Given the description of an element on the screen output the (x, y) to click on. 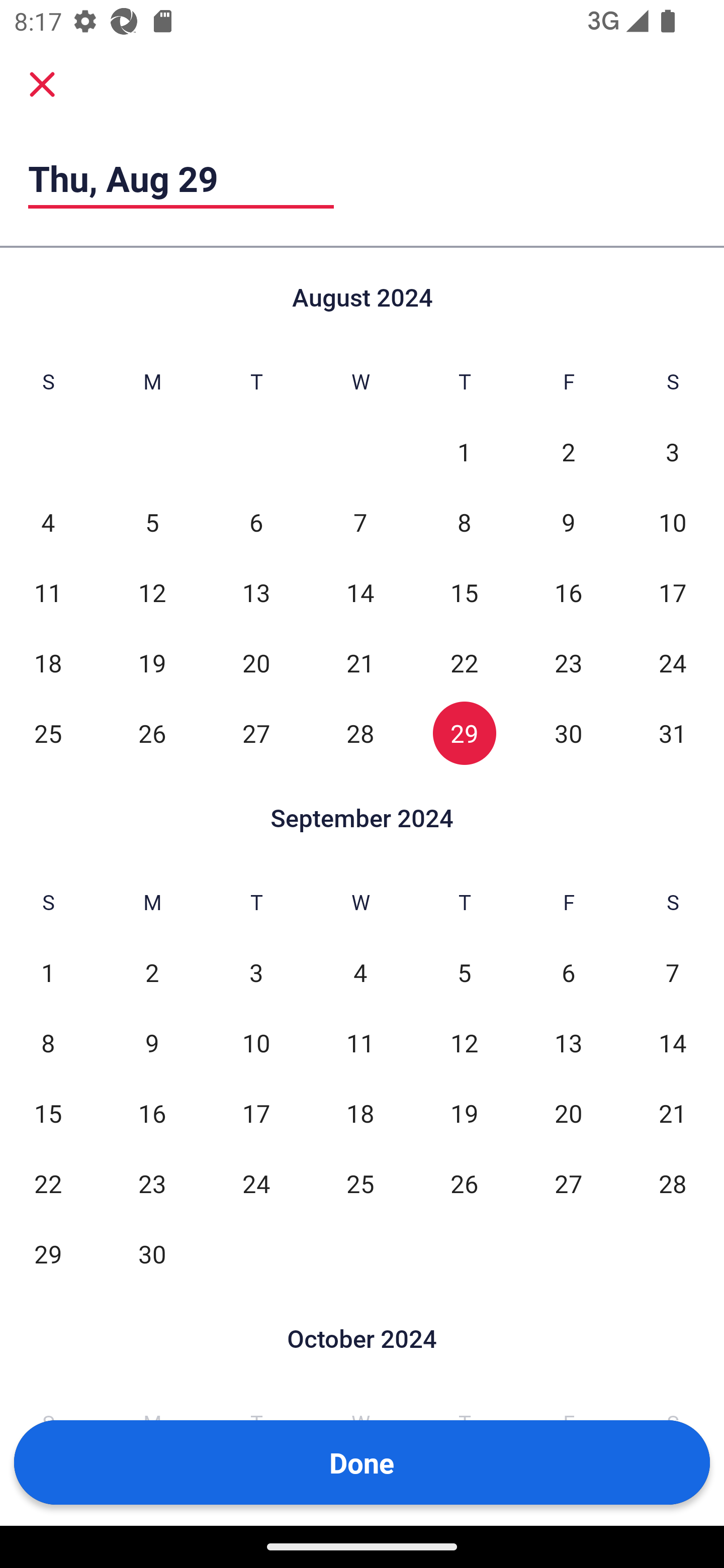
Cancel (42, 84)
Cancel (41, 83)
Thu, Aug 29 (180, 178)
1 Thu, Aug 1, Not Selected (464, 452)
2 Fri, Aug 2, Not Selected (568, 452)
3 Sat, Aug 3, Not Selected (672, 452)
4 Sun, Aug 4, Not Selected (48, 521)
5 Mon, Aug 5, Not Selected (152, 521)
6 Tue, Aug 6, Not Selected (256, 521)
7 Wed, Aug 7, Not Selected (360, 521)
8 Thu, Aug 8, Not Selected (464, 521)
9 Fri, Aug 9, Not Selected (568, 521)
10 Sat, Aug 10, Not Selected (672, 521)
11 Sun, Aug 11, Not Selected (48, 591)
12 Mon, Aug 12, Not Selected (152, 591)
13 Tue, Aug 13, Not Selected (256, 591)
14 Wed, Aug 14, Not Selected (360, 591)
15 Thu, Aug 15, Not Selected (464, 591)
16 Fri, Aug 16, Not Selected (568, 591)
17 Sat, Aug 17, Not Selected (672, 591)
18 Sun, Aug 18, Not Selected (48, 662)
19 Mon, Aug 19, Not Selected (152, 662)
20 Tue, Aug 20, Not Selected (256, 662)
21 Wed, Aug 21, Not Selected (360, 662)
22 Thu, Aug 22, Not Selected (464, 662)
23 Fri, Aug 23, Not Selected (568, 662)
24 Sat, Aug 24, Not Selected (672, 662)
25 Sun, Aug 25, Not Selected (48, 732)
26 Mon, Aug 26, Not Selected (152, 732)
27 Tue, Aug 27, Not Selected (256, 732)
28 Wed, Aug 28, Not Selected (360, 732)
29 Thu, Aug 29, Selected (464, 732)
30 Fri, Aug 30, Not Selected (568, 732)
31 Sat, Aug 31, Not Selected (672, 732)
1 Sun, Sep 1, Not Selected (48, 972)
2 Mon, Sep 2, Not Selected (152, 972)
3 Tue, Sep 3, Not Selected (256, 972)
4 Wed, Sep 4, Not Selected (360, 972)
5 Thu, Sep 5, Not Selected (464, 972)
6 Fri, Sep 6, Not Selected (568, 972)
7 Sat, Sep 7, Not Selected (672, 972)
8 Sun, Sep 8, Not Selected (48, 1043)
9 Mon, Sep 9, Not Selected (152, 1043)
10 Tue, Sep 10, Not Selected (256, 1043)
11 Wed, Sep 11, Not Selected (360, 1043)
12 Thu, Sep 12, Not Selected (464, 1043)
13 Fri, Sep 13, Not Selected (568, 1043)
14 Sat, Sep 14, Not Selected (672, 1043)
15 Sun, Sep 15, Not Selected (48, 1112)
16 Mon, Sep 16, Not Selected (152, 1112)
17 Tue, Sep 17, Not Selected (256, 1112)
18 Wed, Sep 18, Not Selected (360, 1112)
19 Thu, Sep 19, Not Selected (464, 1112)
20 Fri, Sep 20, Not Selected (568, 1112)
21 Sat, Sep 21, Not Selected (672, 1112)
22 Sun, Sep 22, Not Selected (48, 1182)
23 Mon, Sep 23, Not Selected (152, 1182)
24 Tue, Sep 24, Not Selected (256, 1182)
25 Wed, Sep 25, Not Selected (360, 1182)
26 Thu, Sep 26, Not Selected (464, 1182)
27 Fri, Sep 27, Not Selected (568, 1182)
28 Sat, Sep 28, Not Selected (672, 1182)
29 Sun, Sep 29, Not Selected (48, 1253)
30 Mon, Sep 30, Not Selected (152, 1253)
Done Button Done (361, 1462)
